Given the description of an element on the screen output the (x, y) to click on. 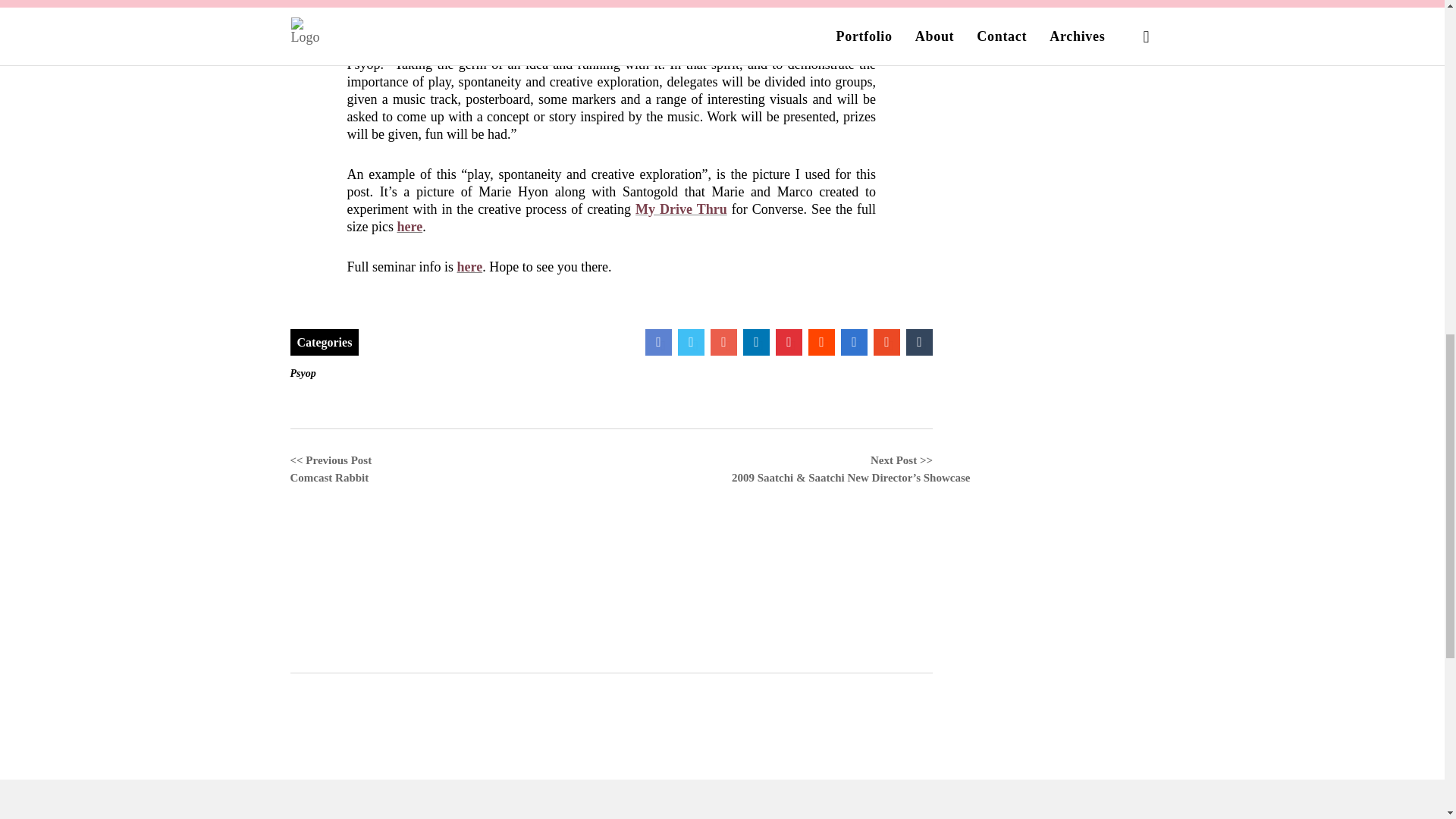
Share to Twitter (691, 342)
Share to Linkedin (756, 342)
Share to Reddit (821, 342)
Share to Tumblr (919, 342)
here (469, 266)
here (409, 226)
Share to Facebook (658, 342)
Share to Stumbleupon (886, 342)
Share to Delicious (854, 342)
My Drive Thru (680, 209)
